Given the description of an element on the screen output the (x, y) to click on. 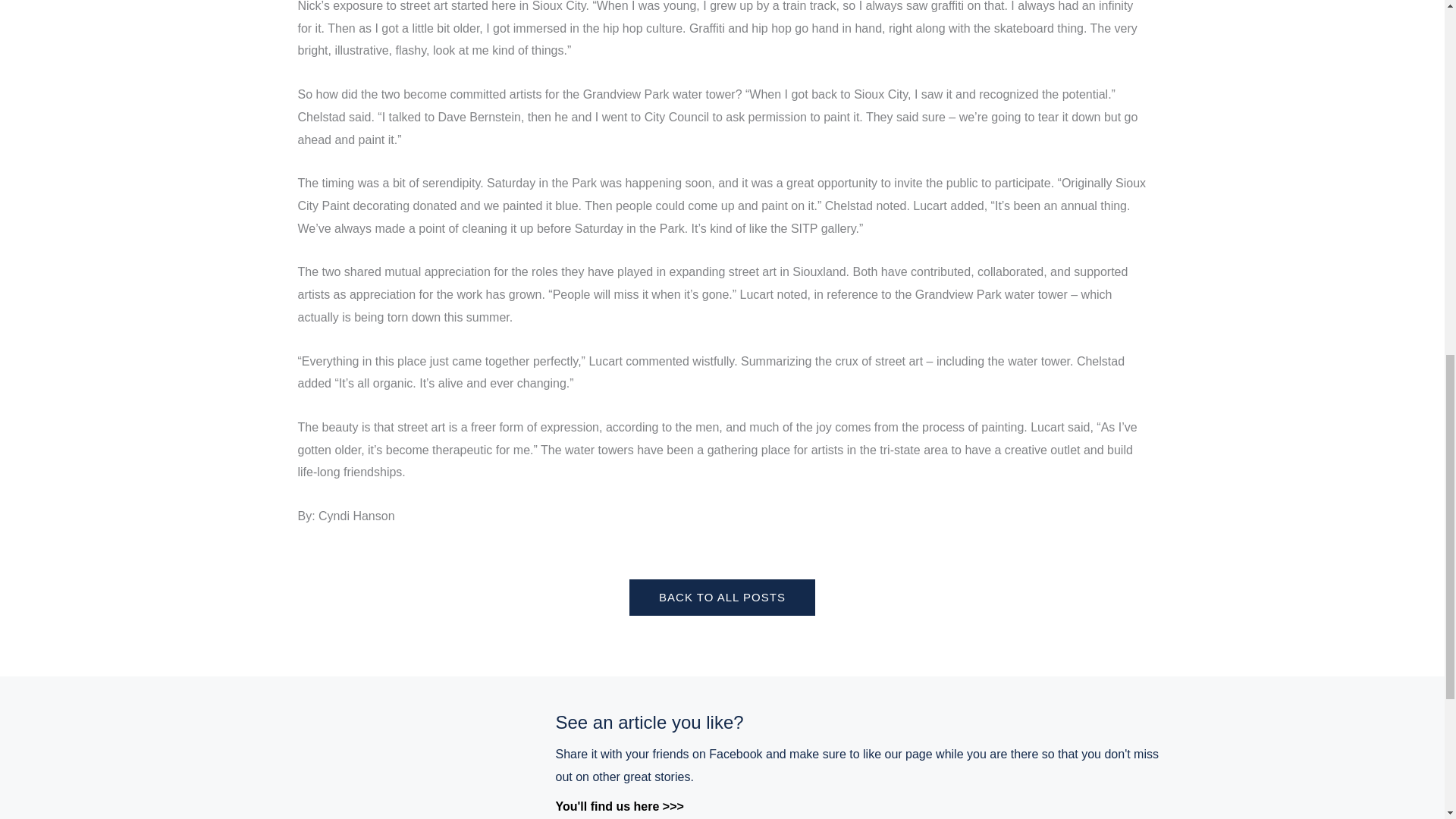
BACK TO ALL POSTS (721, 597)
FB share like icon (404, 762)
